Given the description of an element on the screen output the (x, y) to click on. 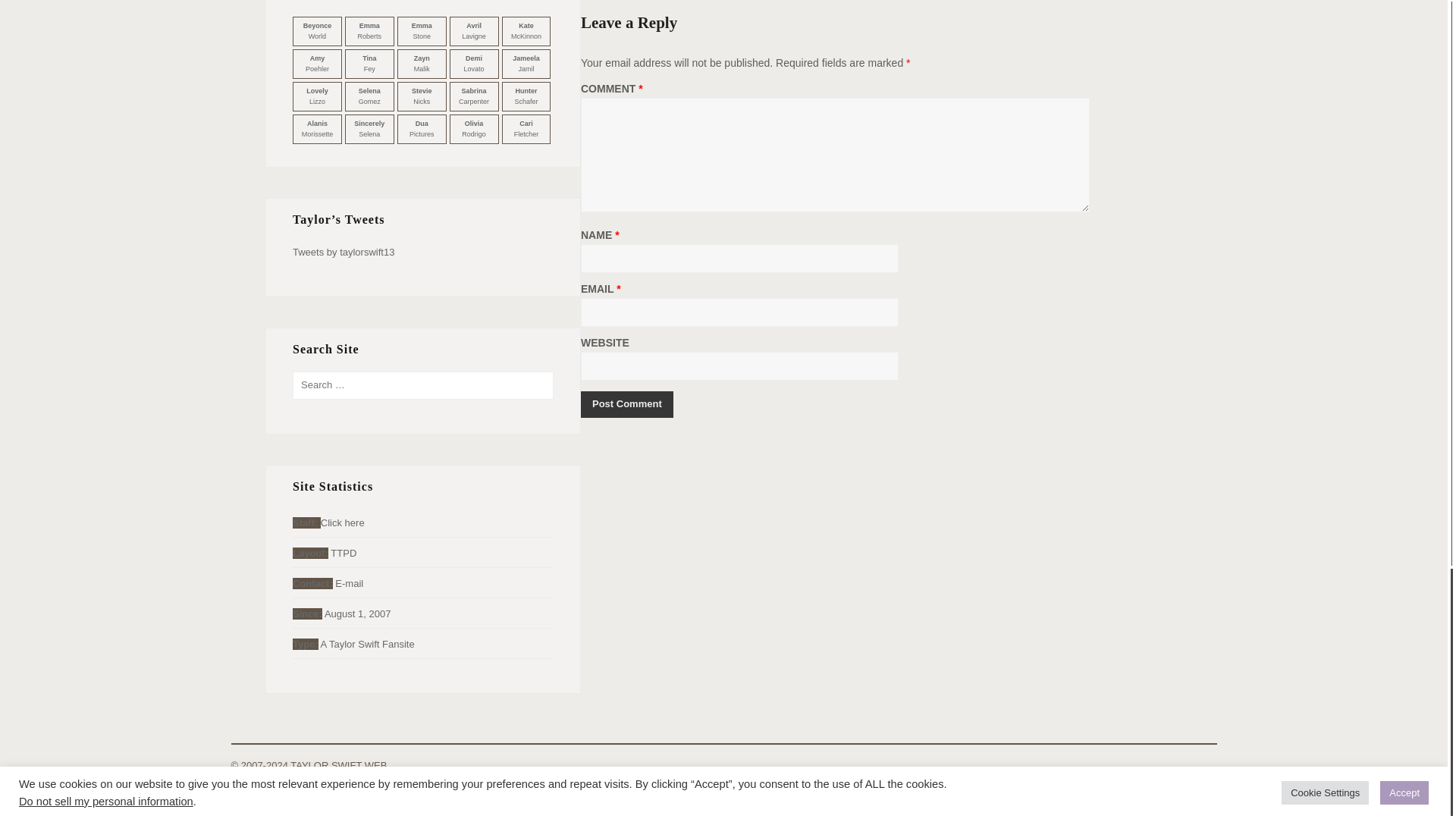
Post Comment (626, 404)
